Given the description of an element on the screen output the (x, y) to click on. 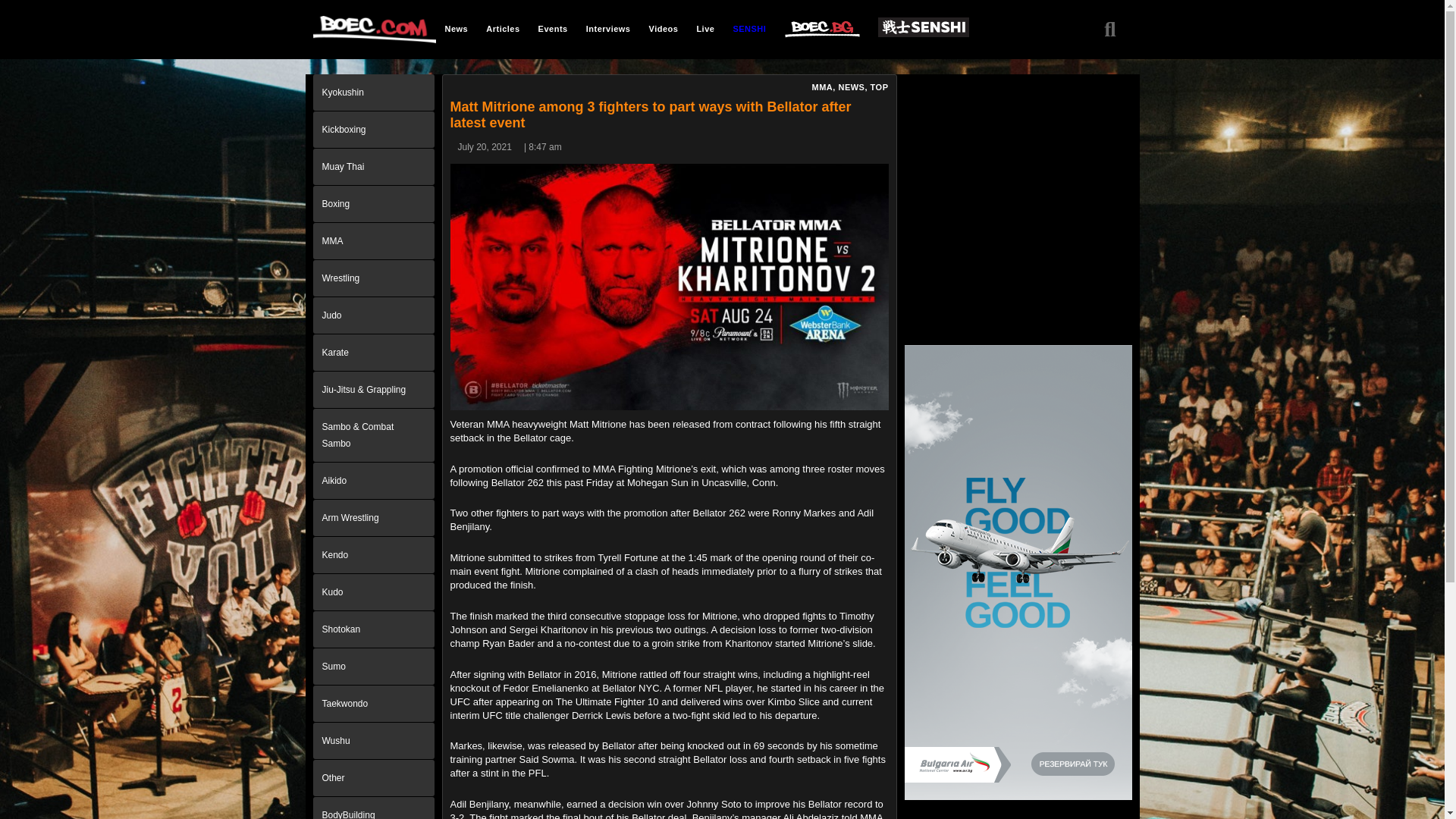
News (456, 28)
Live (705, 28)
Interviews (608, 28)
Videos (663, 28)
SENSHI (748, 28)
Events (552, 28)
Articles (502, 28)
